Given the description of an element on the screen output the (x, y) to click on. 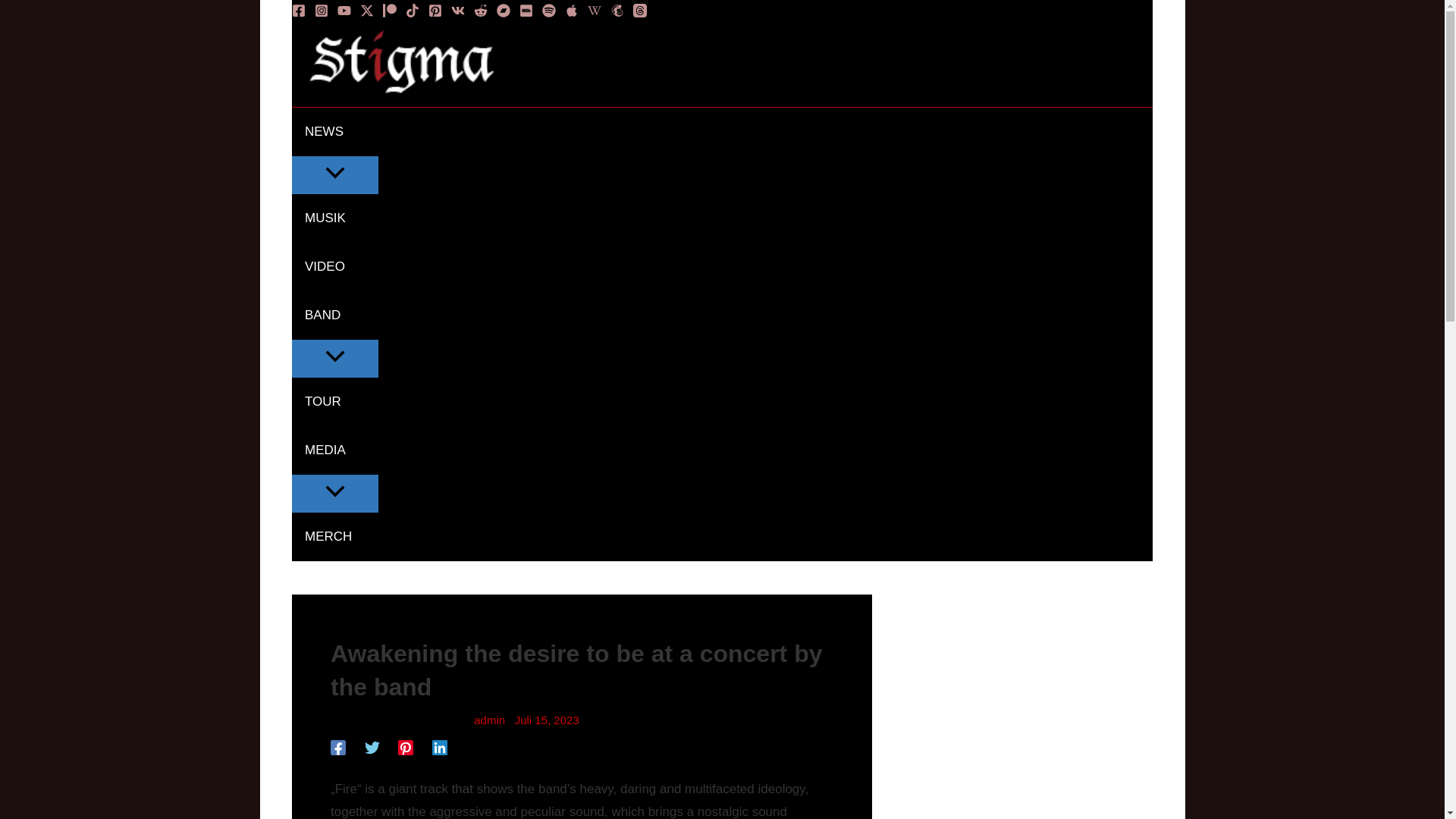
TOUR (335, 401)
NEWS (335, 131)
BAND (335, 315)
VIDEO (335, 266)
MUSIK (335, 218)
MEDIA (335, 450)
